Given the description of an element on the screen output the (x, y) to click on. 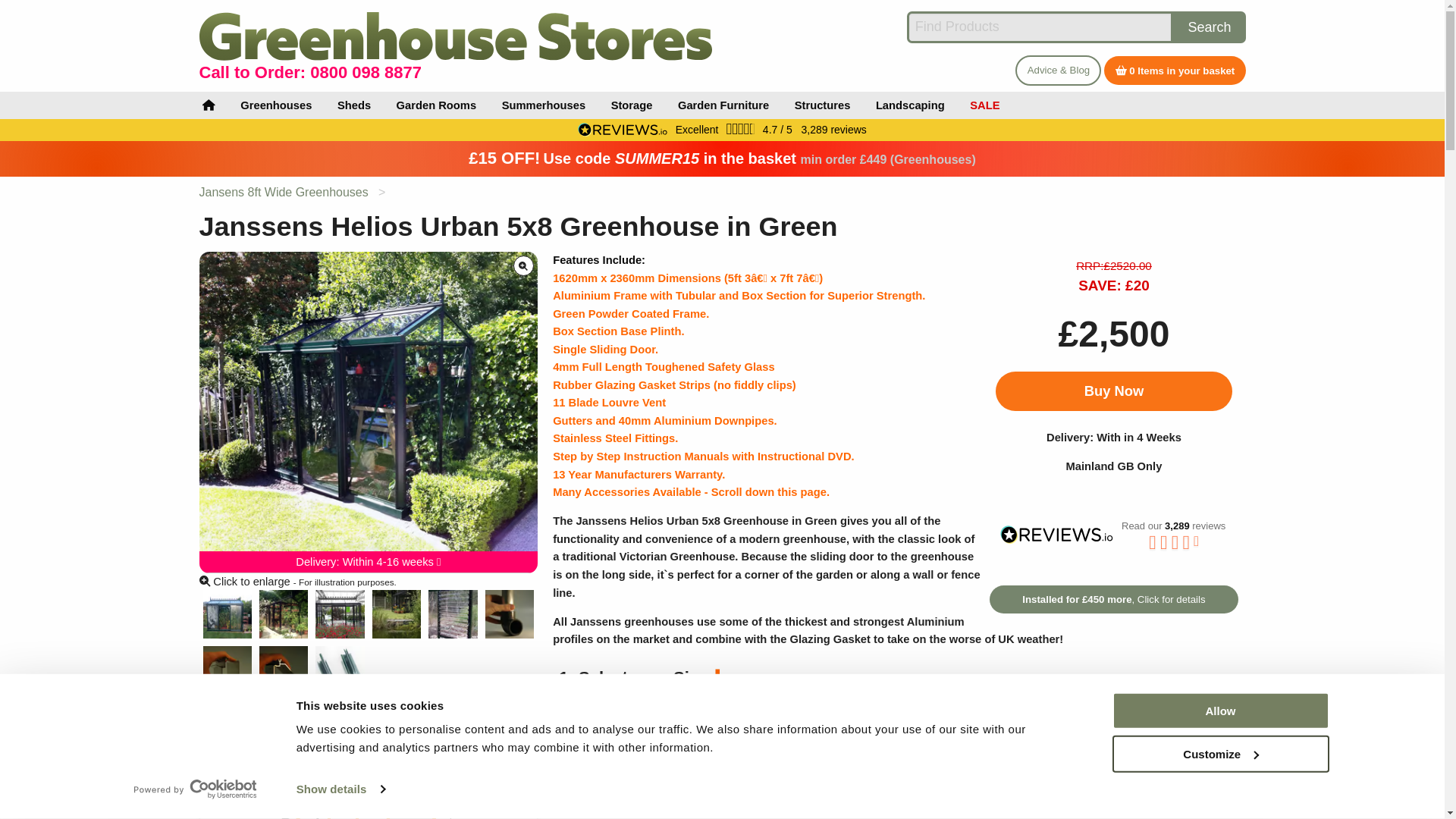
Janssens Downpipe Profile (509, 613)
Black Janssens Helios Urban Victorian Greenhouse (339, 613)
Janssens Helios Corner Post Profile (283, 670)
Janssens Helios Small Urban Victorian Greenhouse (396, 613)
5x8 Janssens Helios Urban Victorian Greenhouse (283, 613)
Show details (340, 789)
Janssens Helios Gutter Profile (227, 670)
4.66 Stars (740, 129)
Janssens Helios Glazing Bar Profile (339, 670)
Janssens-Greenhouses-Louvre-Window (452, 613)
Janssens Helios Urban Victorian Greenhouse in Green (227, 613)
